Given the description of an element on the screen output the (x, y) to click on. 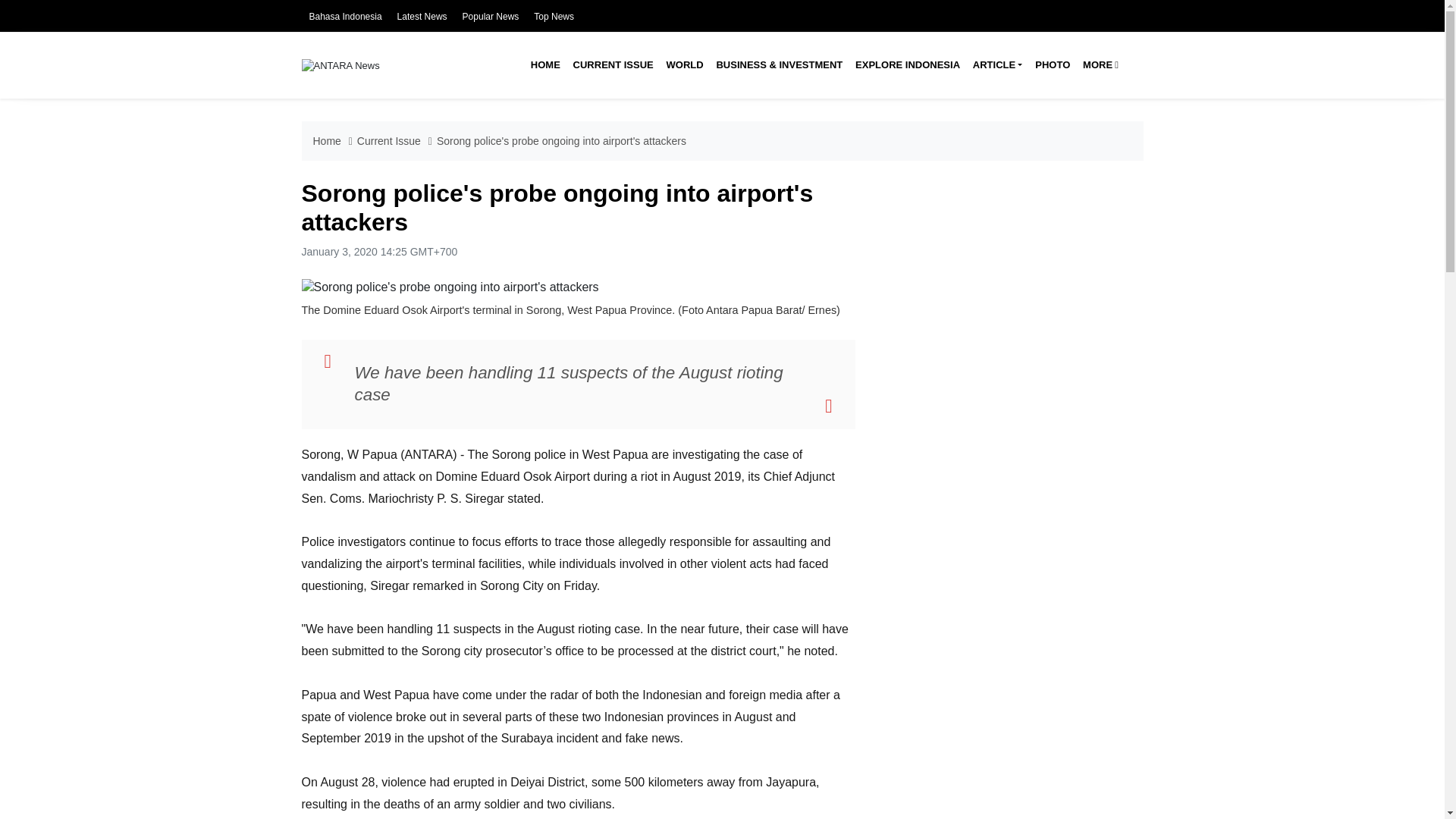
ARTICLE (996, 64)
Bahasa Indonesia (344, 16)
Explore Indonesia (907, 64)
ANTARA News (340, 64)
CURRENT ISSUE (612, 64)
Top News (553, 16)
Top News (553, 16)
Popular News (491, 16)
Current Issue (612, 64)
Popular News (491, 16)
Article (996, 64)
Latest News (421, 16)
EXPLORE INDONESIA (907, 64)
Bahasa Indonesia (344, 16)
Latest News (421, 16)
